Given the description of an element on the screen output the (x, y) to click on. 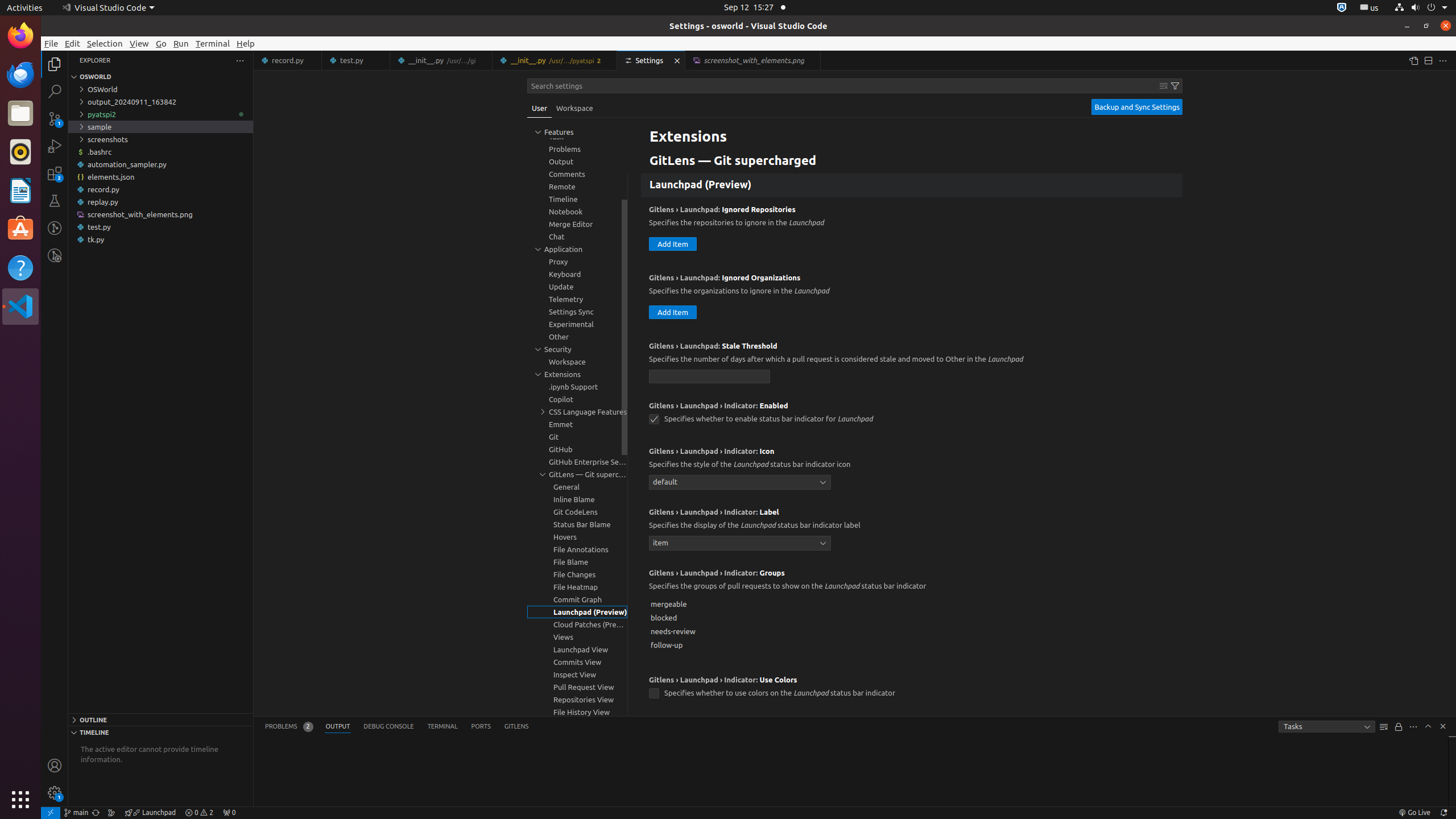
File History View, group Element type: tree-item (577, 711)
Open Settings (JSON) Element type: push-button (1413, 60)
List item `blocked` Element type: list-item (911, 617)
Terminal Element type: push-button (212, 43)
automation_sampler.py Element type: tree-item (160, 164)
